Given the description of an element on the screen output the (x, y) to click on. 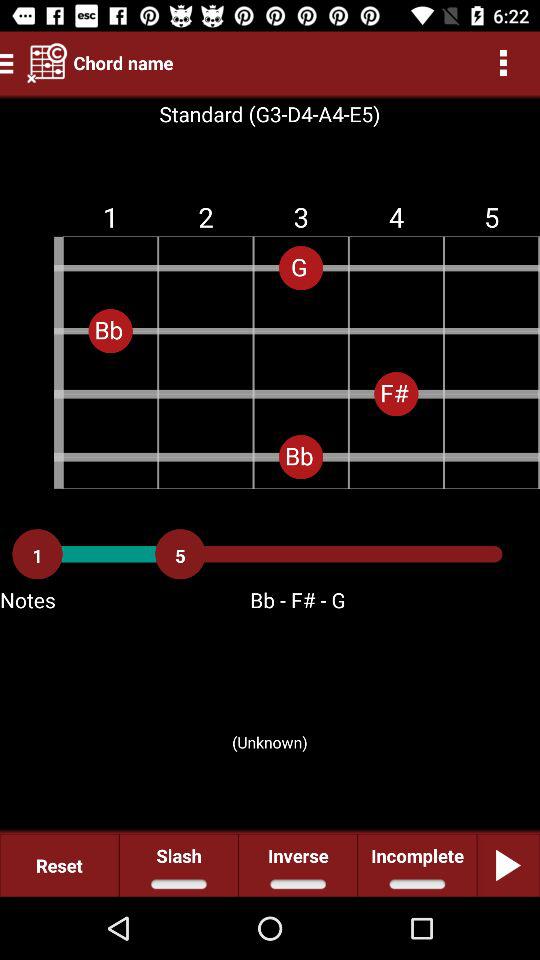
select icon next to the chord name (47, 62)
